Given the description of an element on the screen output the (x, y) to click on. 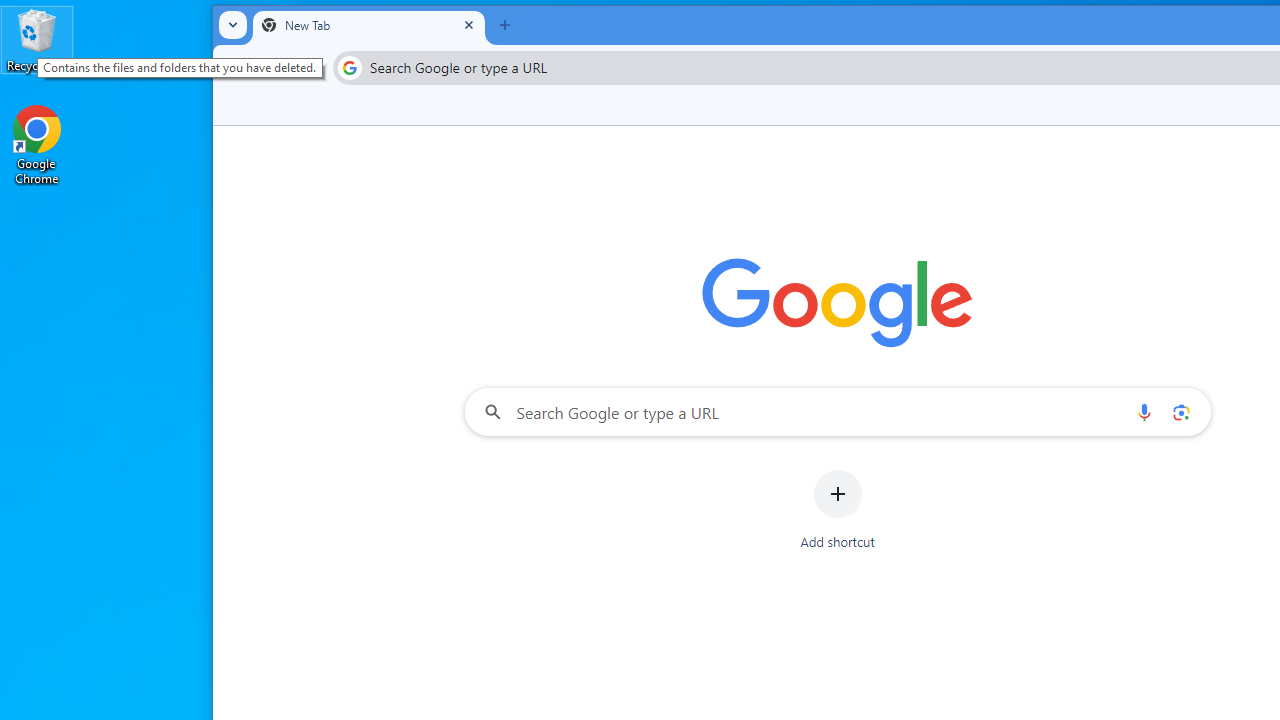
Recycle Bin (37, 39)
Google Chrome (37, 144)
